Given the description of an element on the screen output the (x, y) to click on. 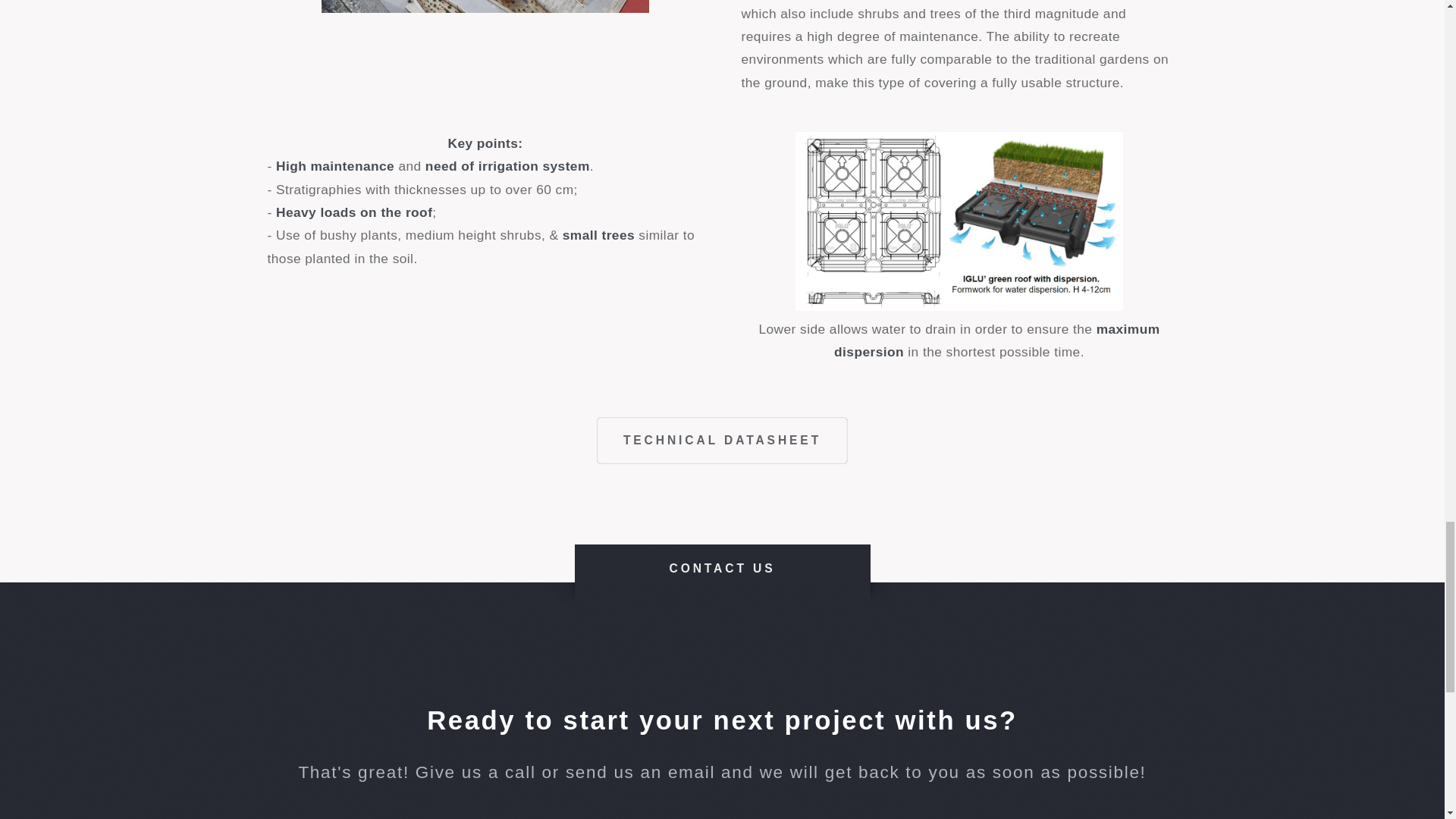
TECHNICAL DATASHEET (721, 440)
